Given the description of an element on the screen output the (x, y) to click on. 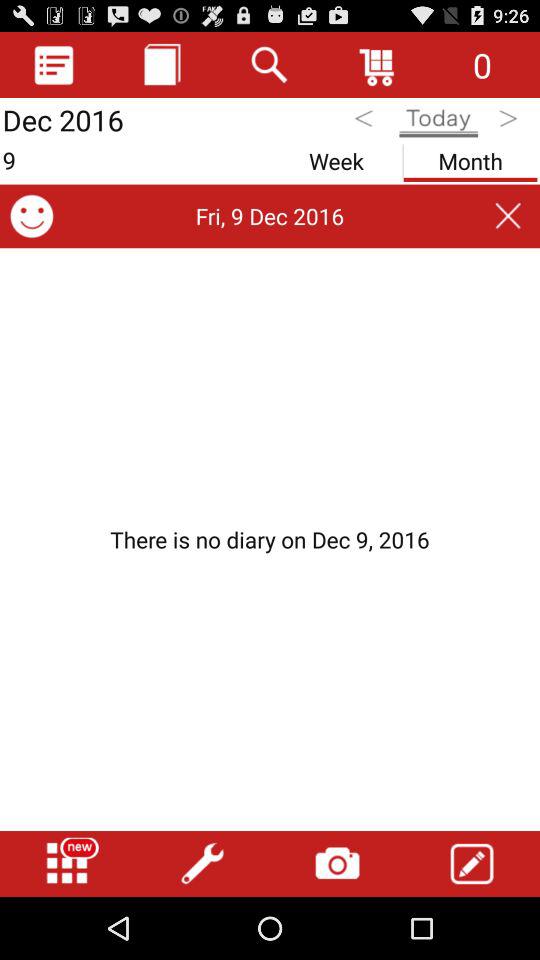
this button allows you to see the menu (53, 64)
